Given the description of an element on the screen output the (x, y) to click on. 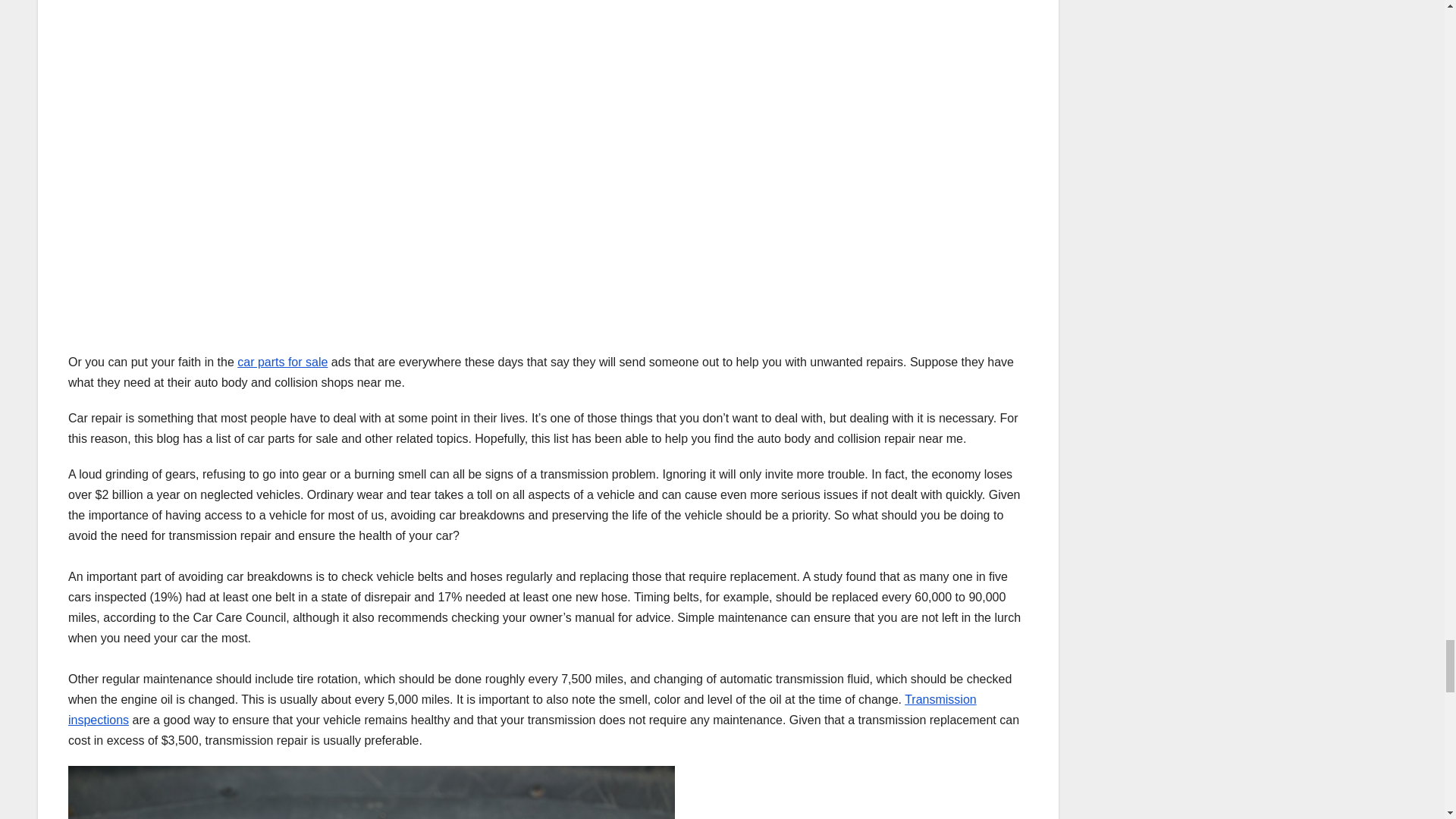
Get more info about Car repair rochester ny (522, 709)
Transmission inspections (522, 709)
car parts for sale (282, 361)
